Given the description of an element on the screen output the (x, y) to click on. 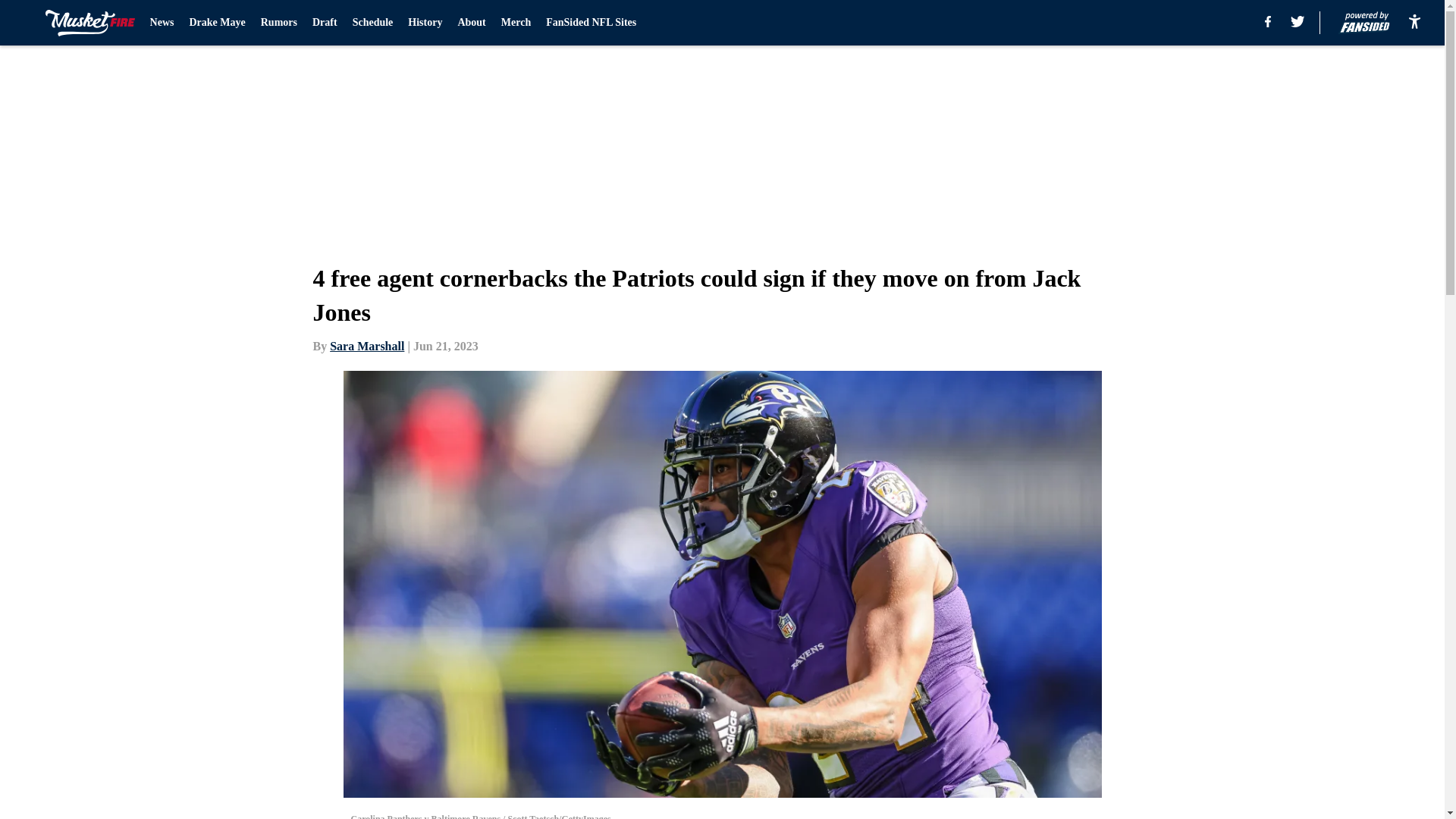
Draft (325, 22)
Sara Marshall (367, 345)
Merch (515, 22)
Rumors (278, 22)
FanSided NFL Sites (591, 22)
History (424, 22)
About (470, 22)
News (161, 22)
Schedule (372, 22)
Drake Maye (216, 22)
